Given the description of an element on the screen output the (x, y) to click on. 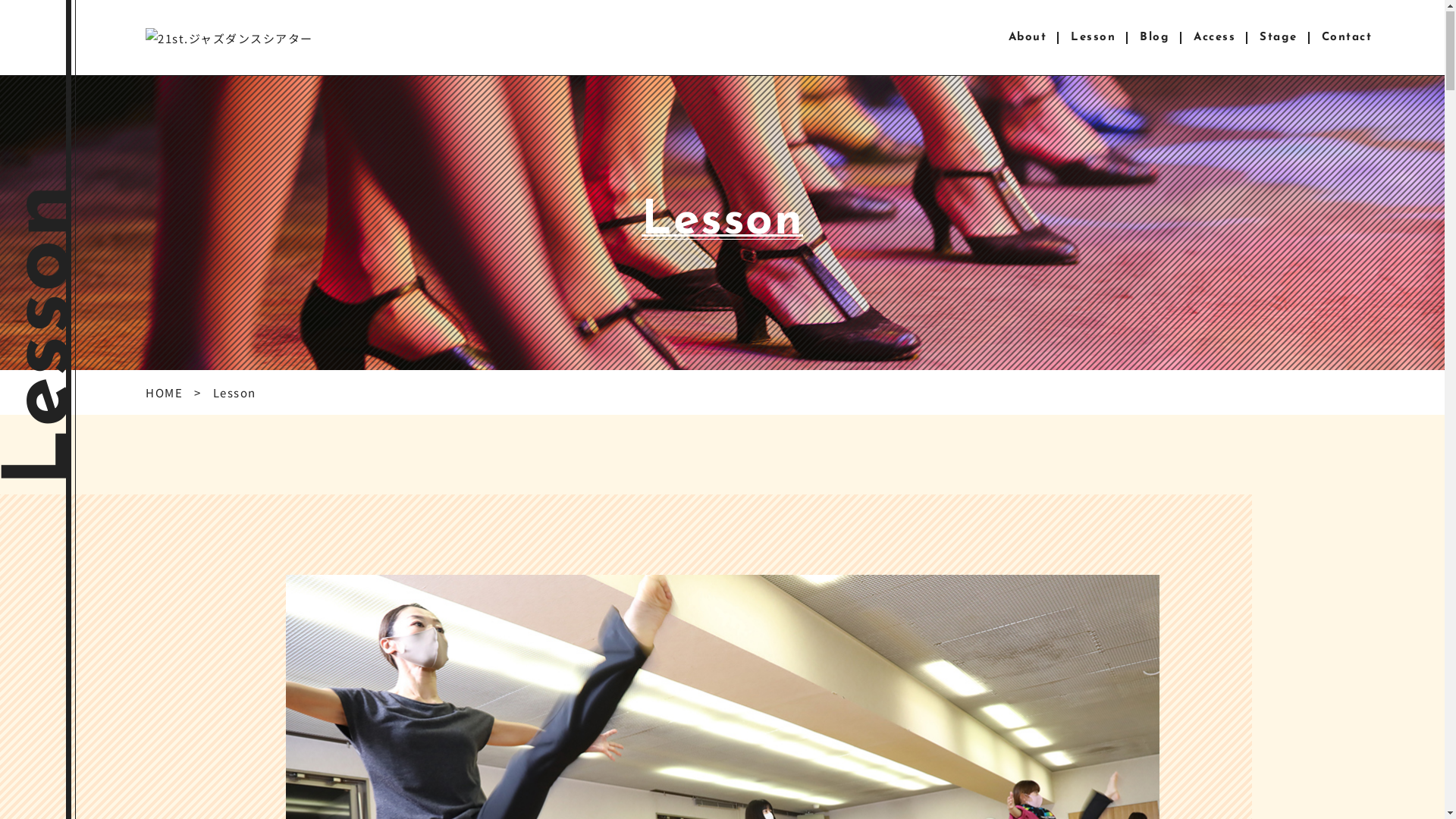
About Element type: text (1027, 38)
Contact Element type: text (1346, 38)
HOME Element type: text (163, 392)
Blog Element type: text (1154, 38)
Access Element type: text (1214, 38)
Lesson Element type: text (1092, 38)
Stage Element type: text (1278, 38)
